Given the description of an element on the screen output the (x, y) to click on. 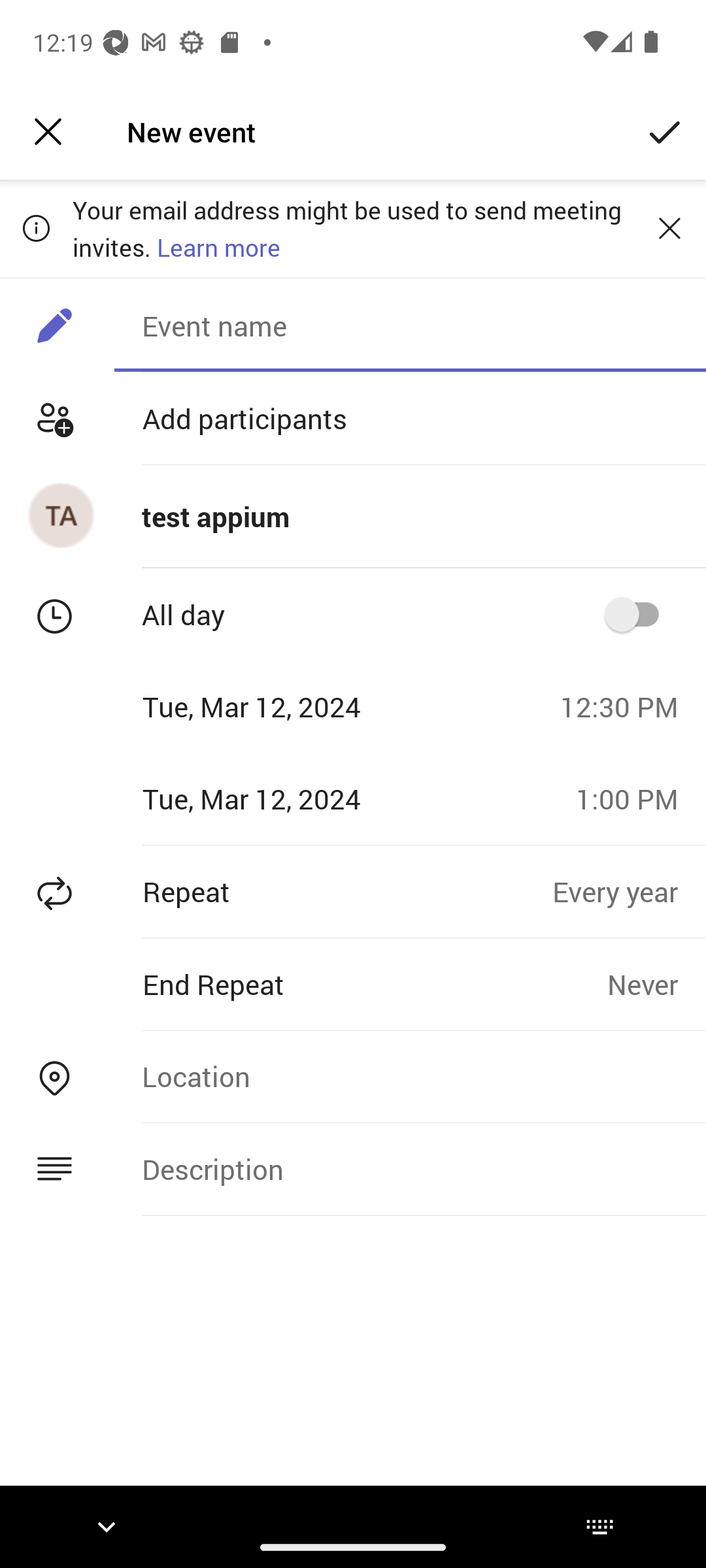
Back (48, 131)
Send invite (665, 131)
Dismiss banner (669, 228)
Event name (410, 325)
Add participants Add participants option (353, 418)
All day (638, 614)
Tue, Mar 12, 2024 Starts Tuesday Mar 12, 2024 (273, 706)
12:30 PM Start time 12:30 PM (626, 706)
Tue, Mar 12, 2024 Ends Tuesday Mar 12, 2024 (280, 798)
1:00 PM End time 1:00 PM (633, 798)
Repeat (276, 891)
Every year Repeat Every year (629, 891)
End Repeat (303, 983)
Never End repeat Never (656, 983)
Location (410, 1076)
Description (410, 1168)
